Given the description of an element on the screen output the (x, y) to click on. 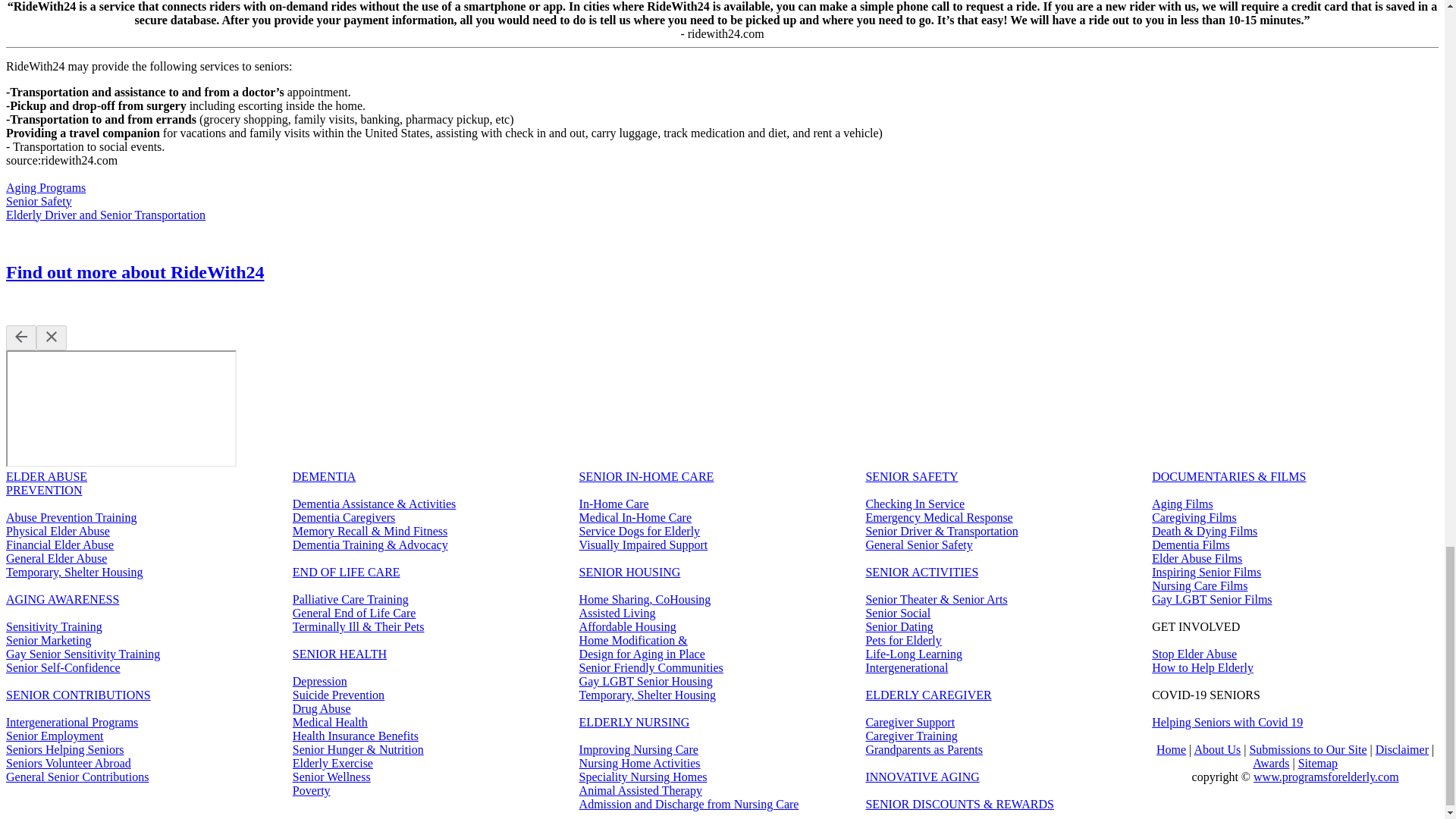
Awards (1270, 762)
Sitemap (1318, 762)
Aging Programs (45, 187)
